Given the description of an element on the screen output the (x, y) to click on. 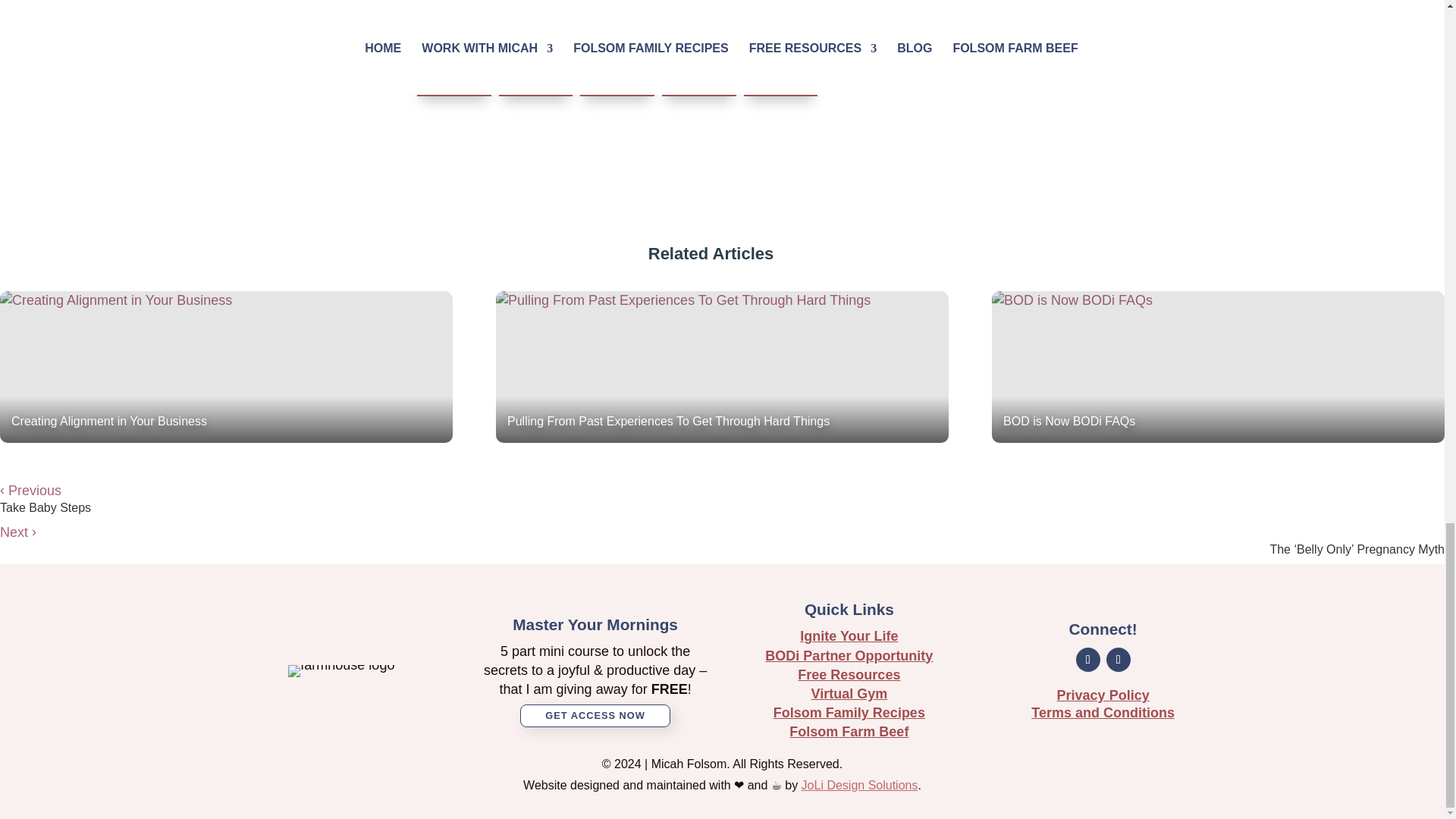
Free Resources (848, 674)
Folsom Family Recipes (848, 712)
farmhouse-logo (341, 671)
Creating Alignment in Your Business (226, 367)
Pulling From Past Experiences To Get Through Hard Things (722, 367)
Folsom Farm Beef (848, 731)
Virtual Gym (849, 693)
Privacy Policy (1103, 694)
GET ACCESS NOW (594, 715)
Follow on Instagram (1118, 659)
